Given the description of an element on the screen output the (x, y) to click on. 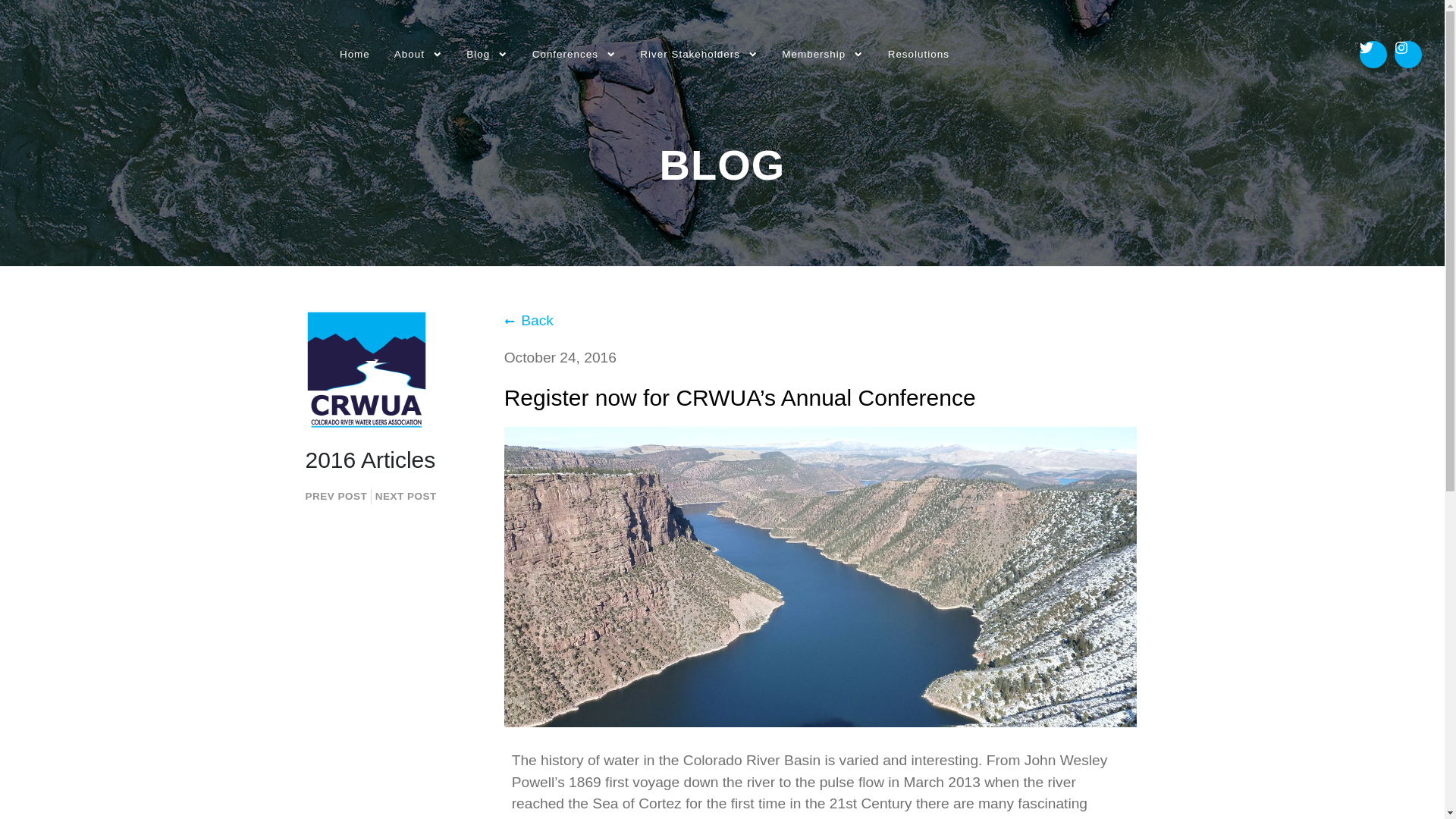
Blog (486, 54)
River Stakeholders (698, 54)
About (417, 54)
Home (354, 54)
Conferences (573, 54)
Resolutions (918, 54)
Membership (822, 54)
